Given the description of an element on the screen output the (x, y) to click on. 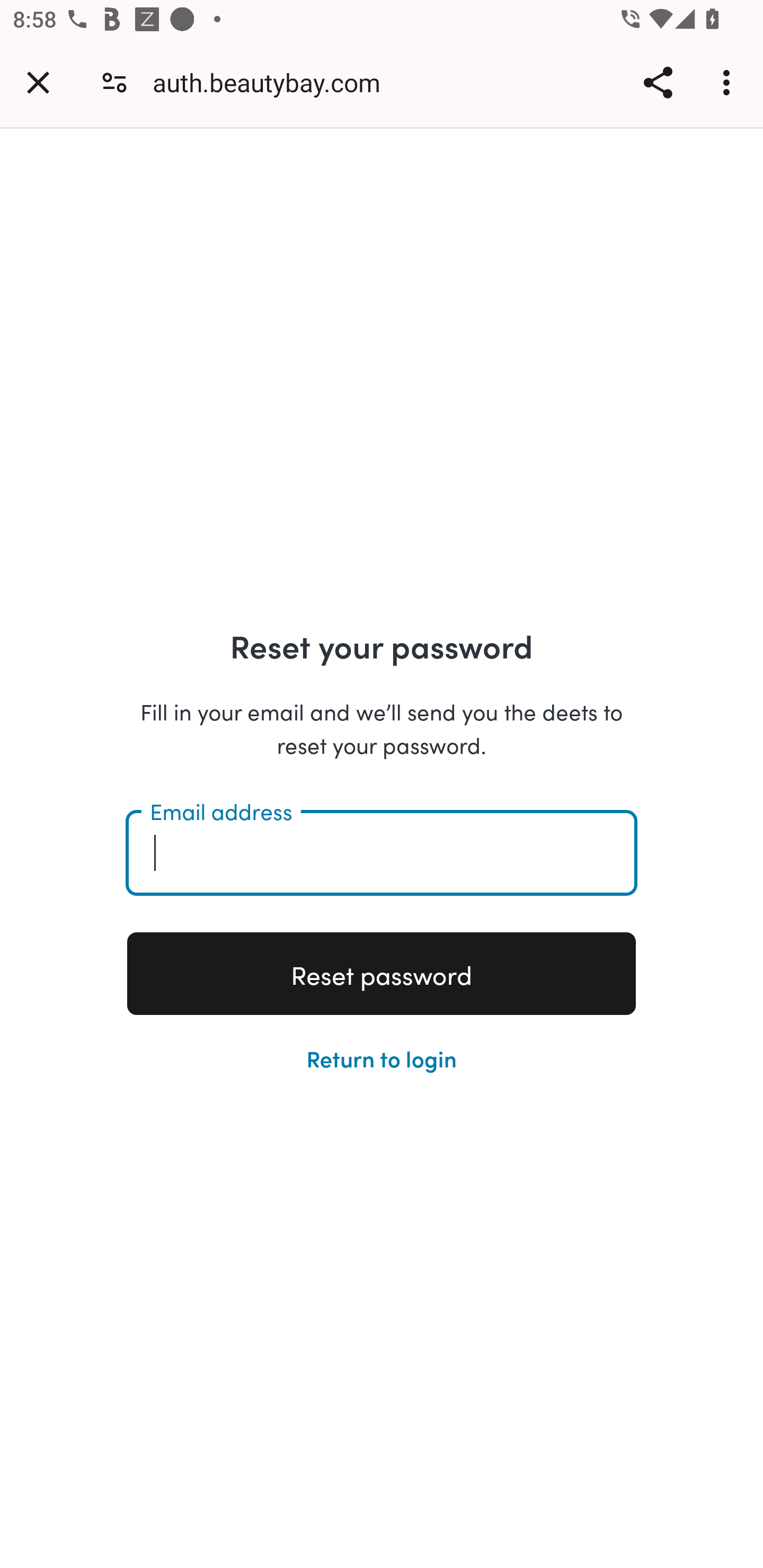
Close tab (38, 82)
Share (657, 82)
Customize and control Google Chrome (729, 82)
Connection is secure (114, 81)
auth.beautybay.com (272, 81)
Reset password (381, 973)
Return to login (381, 1057)
